Given the description of an element on the screen output the (x, y) to click on. 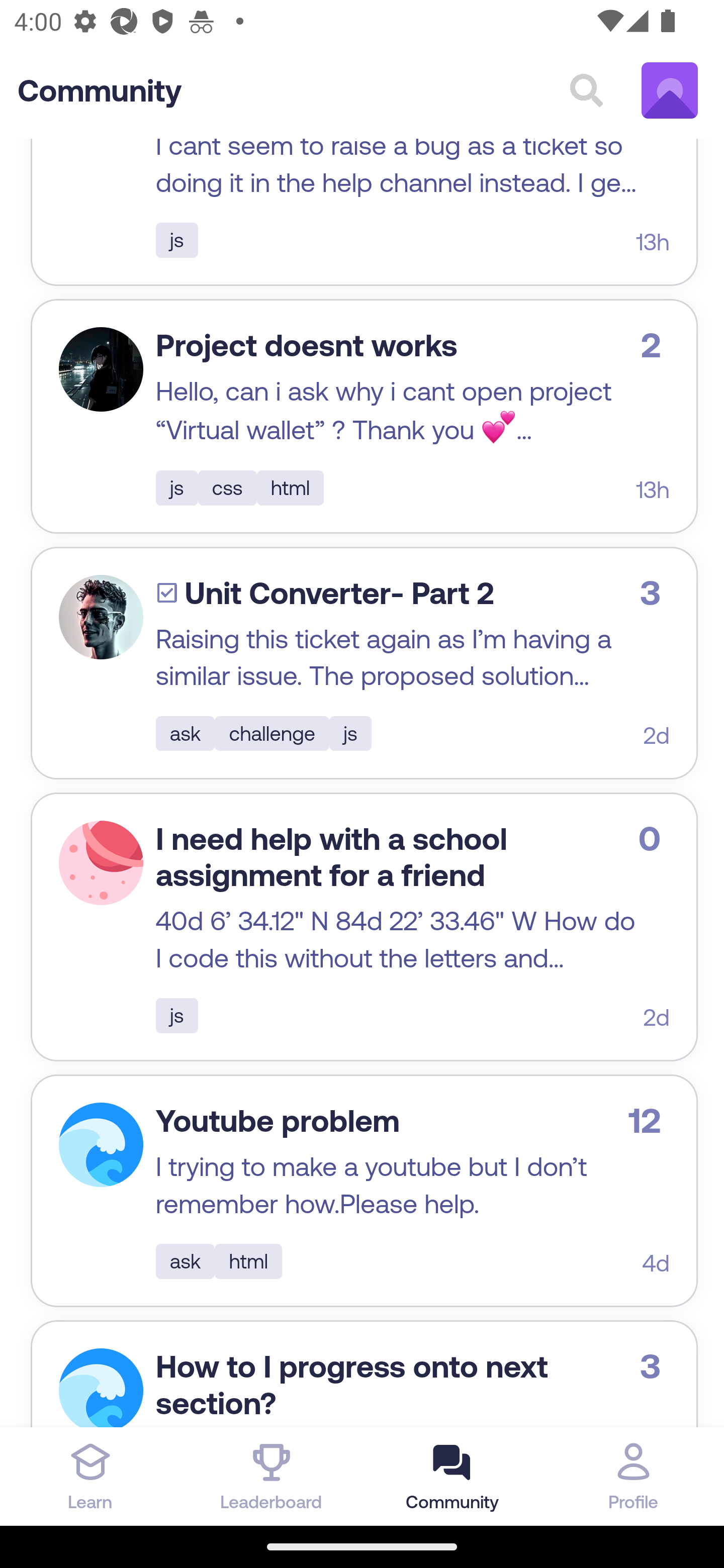
Search (586, 91)
Test Appium's account (669, 91)
Community (100, 92)
js (176, 241)
13h (652, 242)
1 (100, 371)
This topic has 2 replies (655, 345)
Project doesnt works (305, 347)
js (176, 489)
css (226, 489)
html (289, 489)
13h (652, 490)
1 (100, 619)
This topic has 3 replies (654, 593)
Unit Converter- Part 2 (338, 595)
ask (185, 734)
challenge (272, 734)
js (350, 734)
2d (656, 736)
1 (100, 864)
I need help with a school assignment for a friend (331, 858)
This topic has 0 replies (653, 839)
js (176, 1017)
2d (656, 1017)
1 (100, 1145)
This topic has 12 replies (648, 1120)
Youtube problem (277, 1121)
ask (185, 1262)
html (249, 1262)
4d (655, 1263)
1 (100, 1388)
This topic has 3 replies (654, 1367)
How to I progress onto next section? (351, 1386)
Learn (90, 1475)
Leaderboard (271, 1475)
Profile (633, 1475)
